Given the description of an element on the screen output the (x, y) to click on. 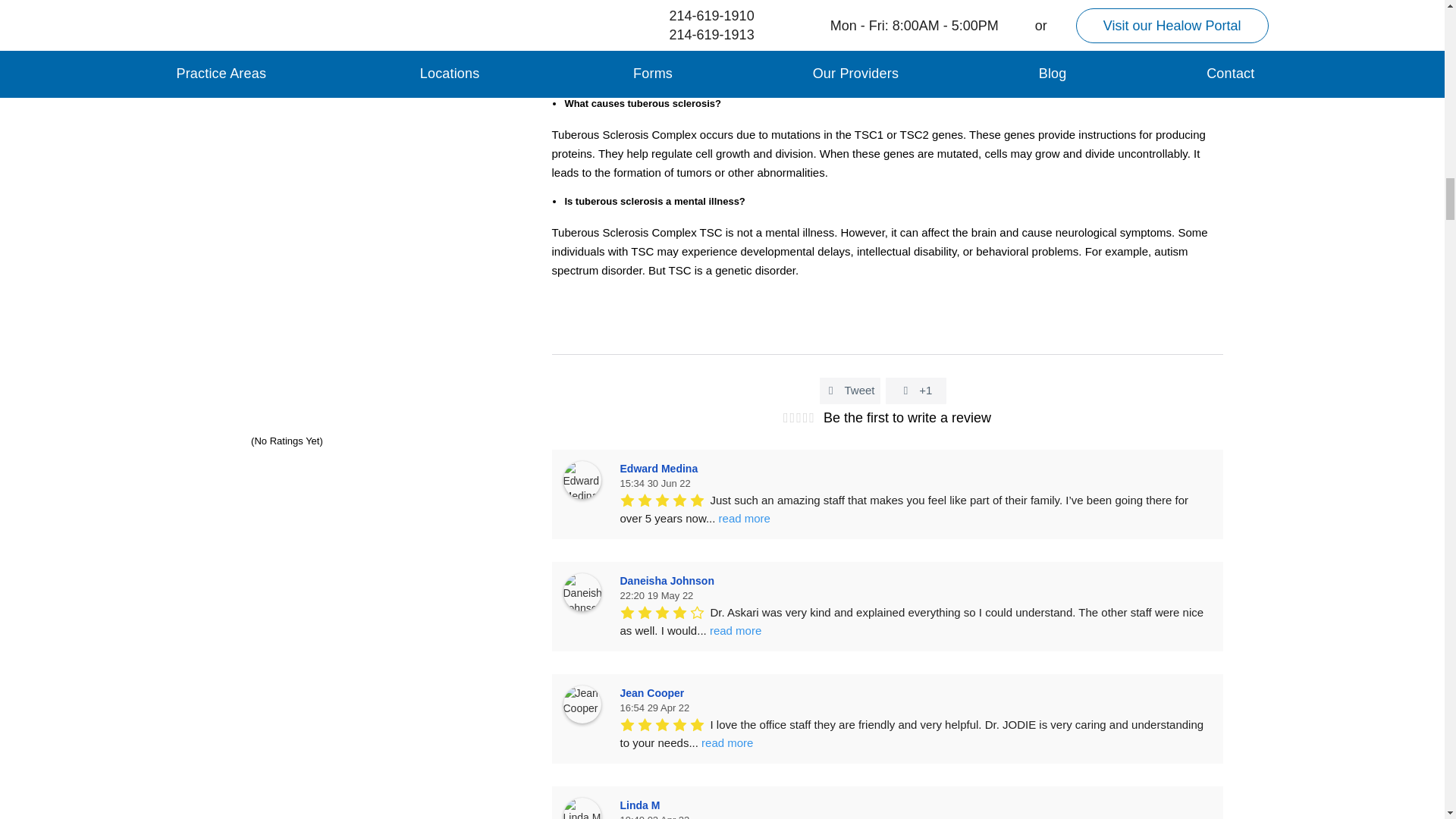
Daneisha Johnson (580, 591)
Edward Medina (580, 479)
5 Stars (241, 438)
Share on Google Plus (915, 389)
Linda M (580, 808)
4 Stars (229, 438)
3 Stars (218, 438)
Jean Cooper (580, 704)
Share on Twitter (849, 389)
1 Star (193, 438)
